Given the description of an element on the screen output the (x, y) to click on. 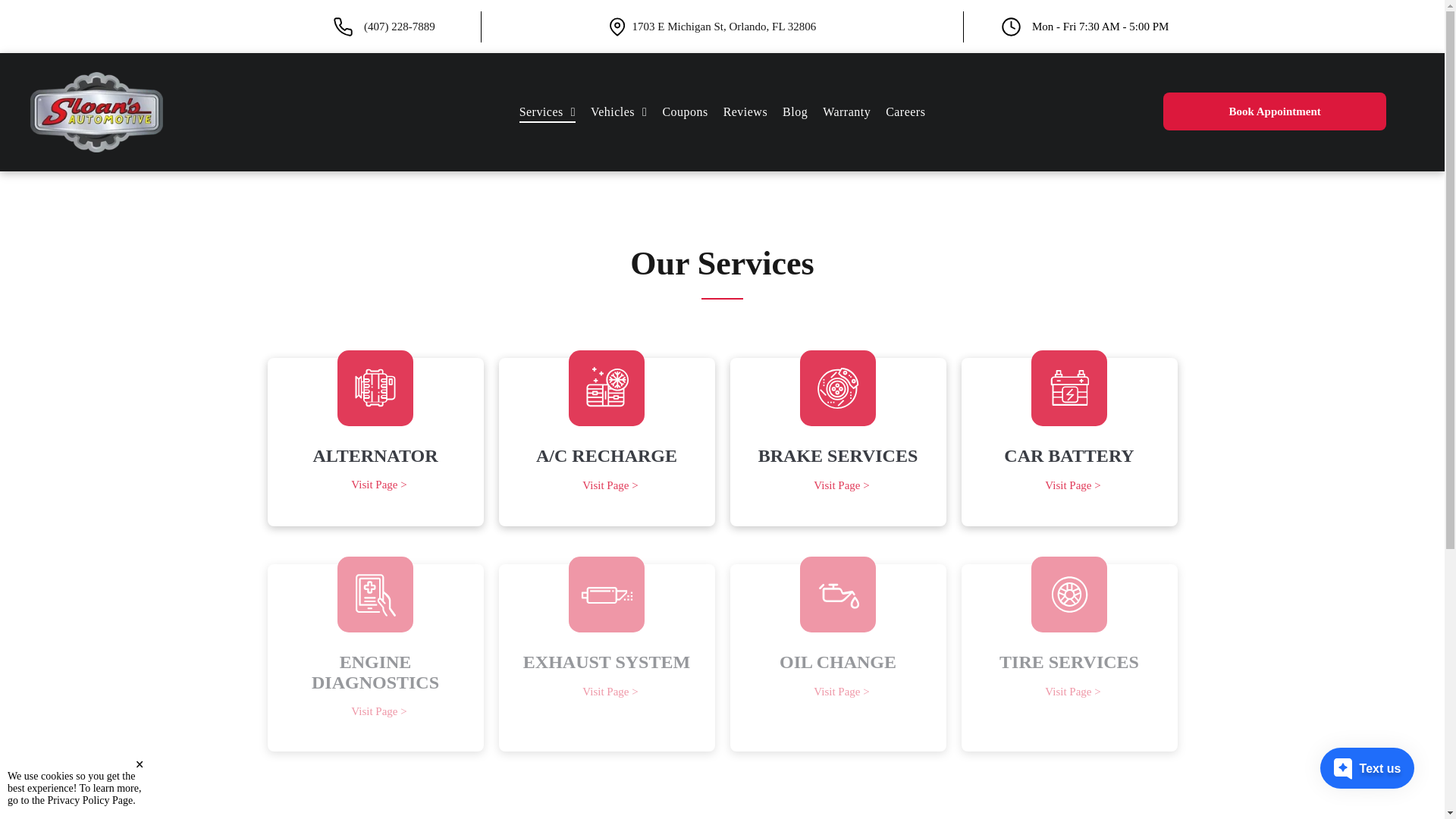
1703 E Michigan St, Orlando, FL 32806 (723, 26)
Visit Page (721, 112)
1703 E Michigan St, Orlando, FL 32806 (723, 26)
